Given the description of an element on the screen output the (x, y) to click on. 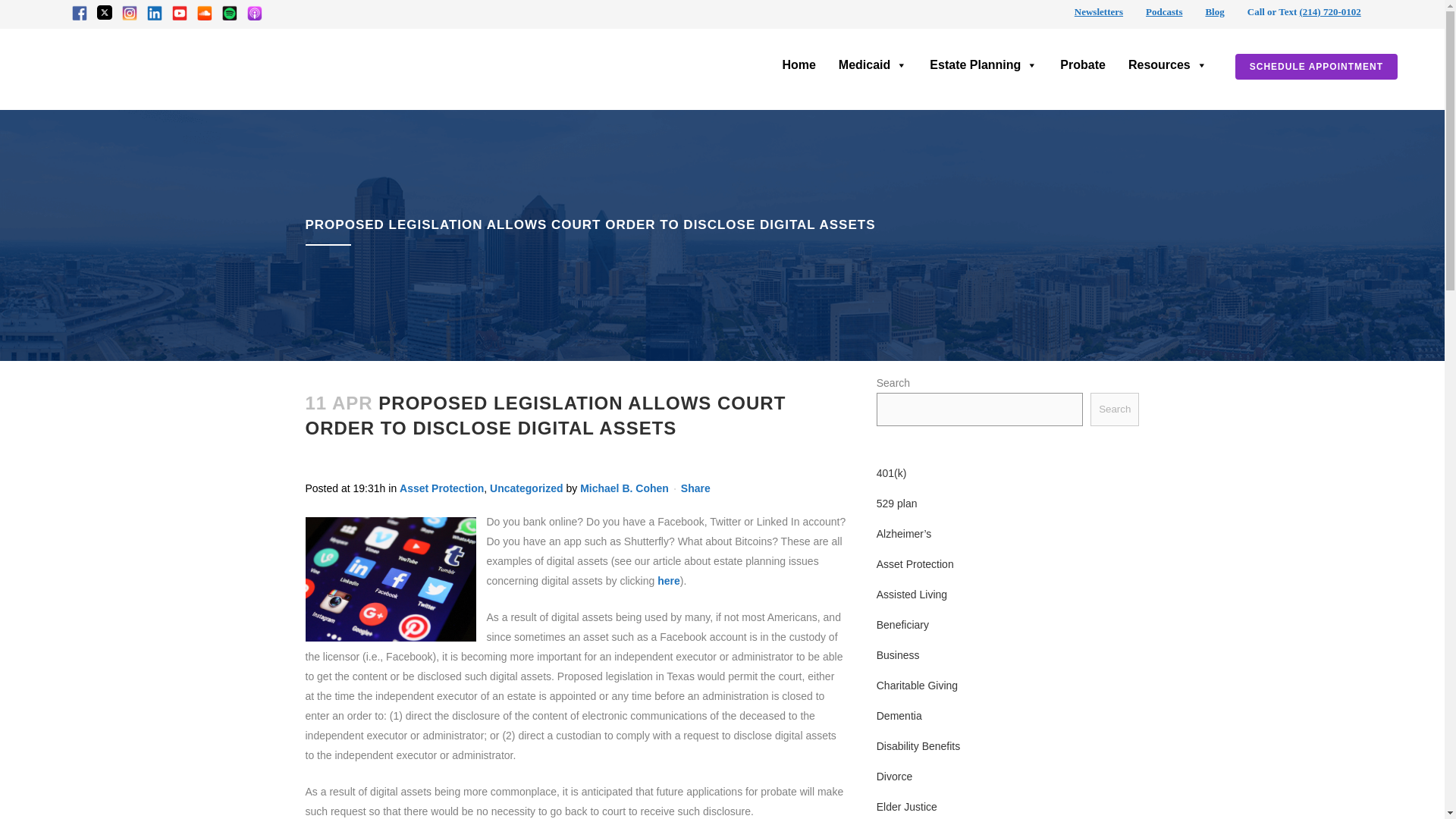
Resources (1167, 64)
Estate Planning (983, 64)
Probate (1082, 64)
Newsletters (1098, 11)
Blog (1214, 11)
SCHEDULE APPOINTMENT (1315, 66)
Podcasts (1163, 11)
Medicaid (872, 64)
Home (798, 64)
